Given the description of an element on the screen output the (x, y) to click on. 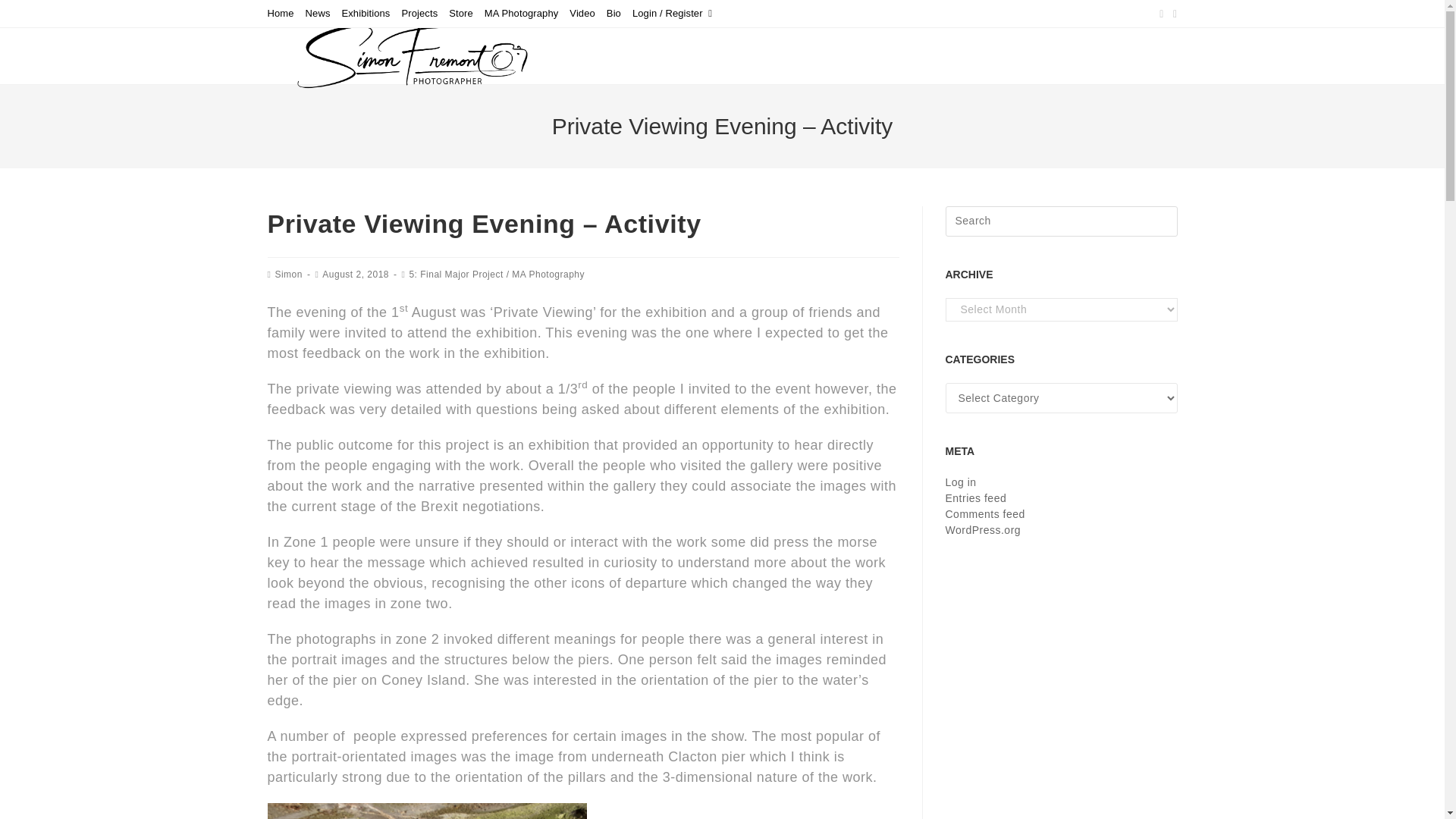
Log in (959, 481)
Entries feed (975, 498)
News (317, 13)
Twitter (1161, 13)
Home (280, 13)
5: Final Major Project (455, 274)
Store (460, 13)
Posts by Simon (288, 274)
Projects (419, 13)
MA Photography (548, 274)
